Given the description of an element on the screen output the (x, y) to click on. 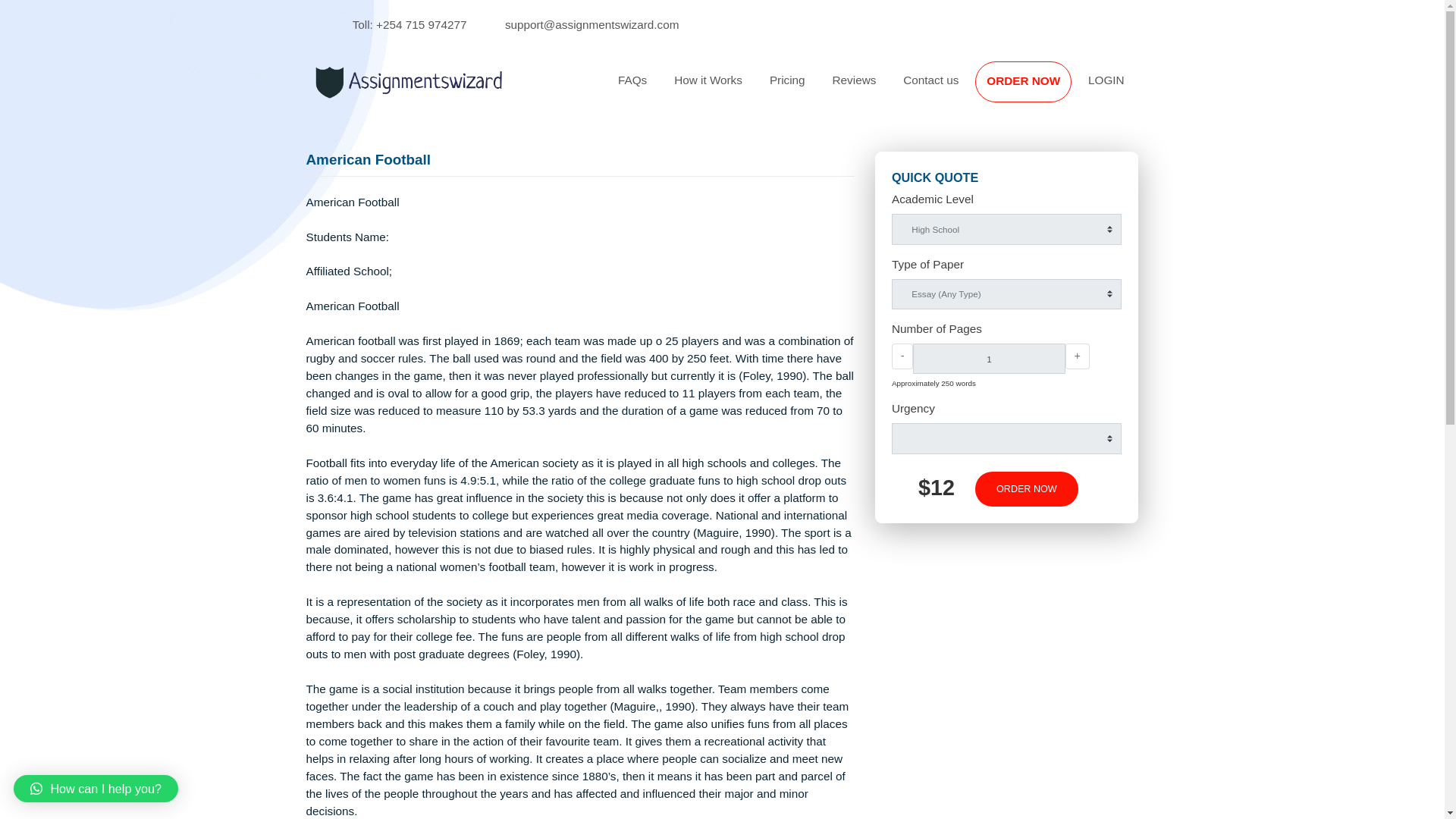
FAQs (702, 89)
1 (1098, 398)
Pricing (875, 89)
ORDER NOW (1137, 90)
Contact us (1034, 89)
Reviews (948, 89)
LOGIN (1229, 89)
LOGIN (1229, 89)
FAQs (702, 89)
ORDER NOW (1140, 542)
